Given the description of an element on the screen output the (x, y) to click on. 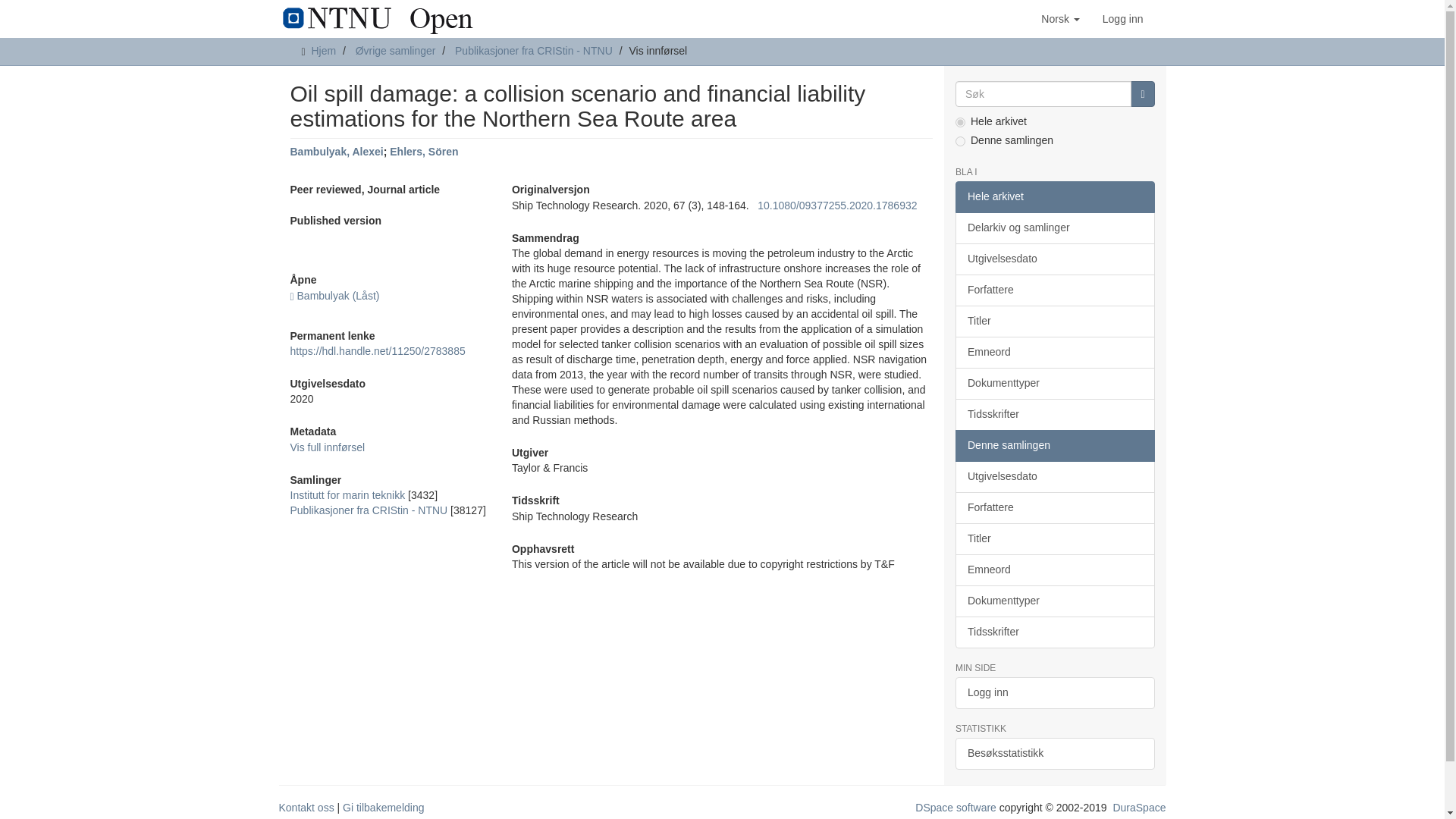
Publikasjoner fra CRIStin - NTNU (367, 510)
Titler (1054, 321)
Utgivelsesdato (1054, 259)
Forfattere (1054, 290)
Hele arkivet (1054, 196)
Bambulyak, Alexei (335, 151)
Logg inn (1122, 18)
Publikasjoner fra CRIStin - NTNU (533, 50)
Delarkiv og samlinger (1054, 228)
Norsk  (1059, 18)
Hjem (323, 50)
Institutt for marin teknikk (346, 494)
